Given the description of an element on the screen output the (x, y) to click on. 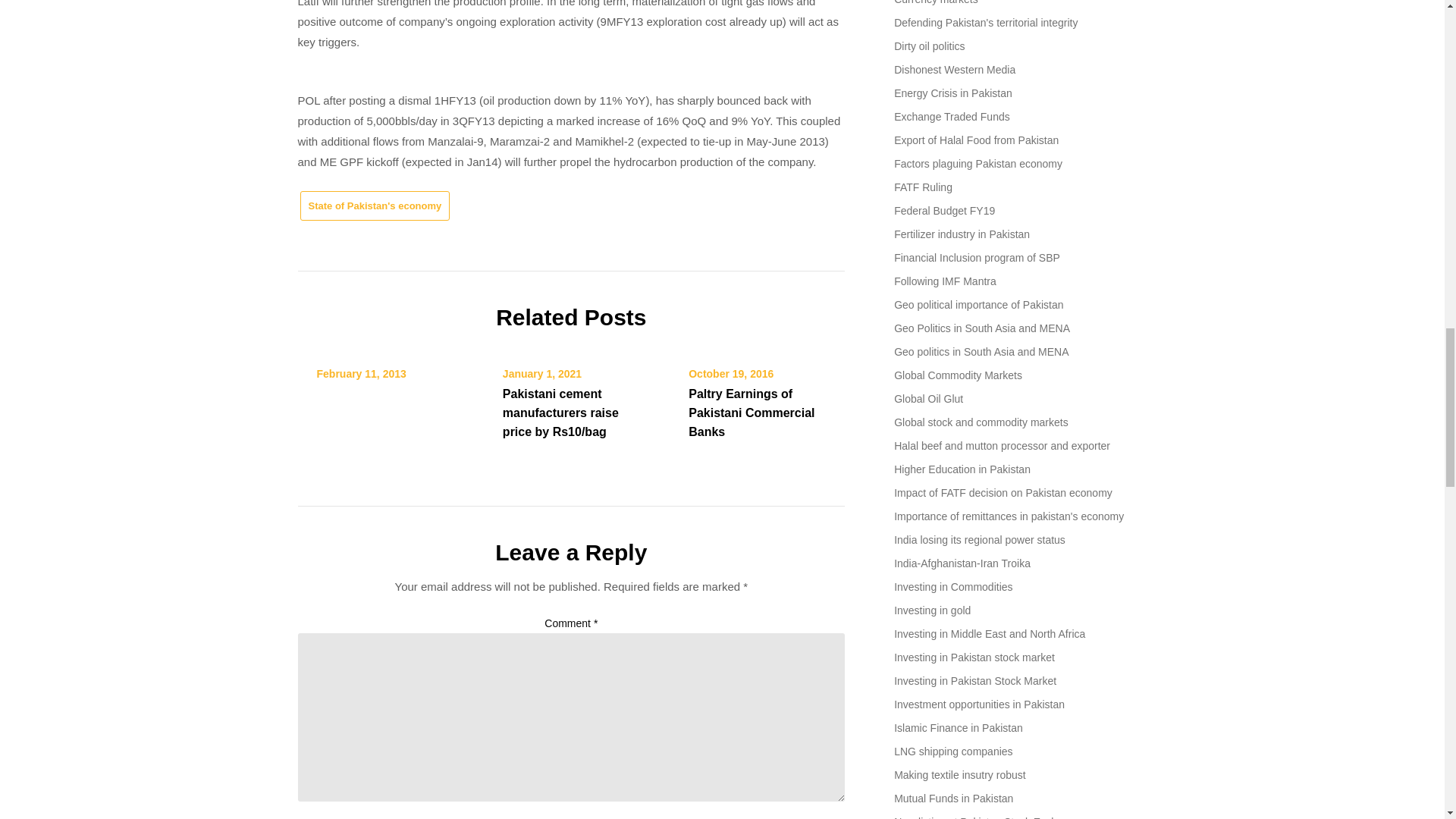
Paltry Earnings of Pakistani Commercial Banks (750, 412)
Dishonest Western Media (953, 69)
Export of Halal Food from Pakistan (975, 140)
Exchange Traded Funds (951, 116)
Factors plaguing Pakistan economy (977, 163)
Dirty oil politics (928, 46)
State of Pakistan's economy (374, 205)
Federal Budget FY19 (943, 210)
Fertilizer industry in Pakistan (961, 234)
FATF Ruling (922, 186)
